Given the description of an element on the screen output the (x, y) to click on. 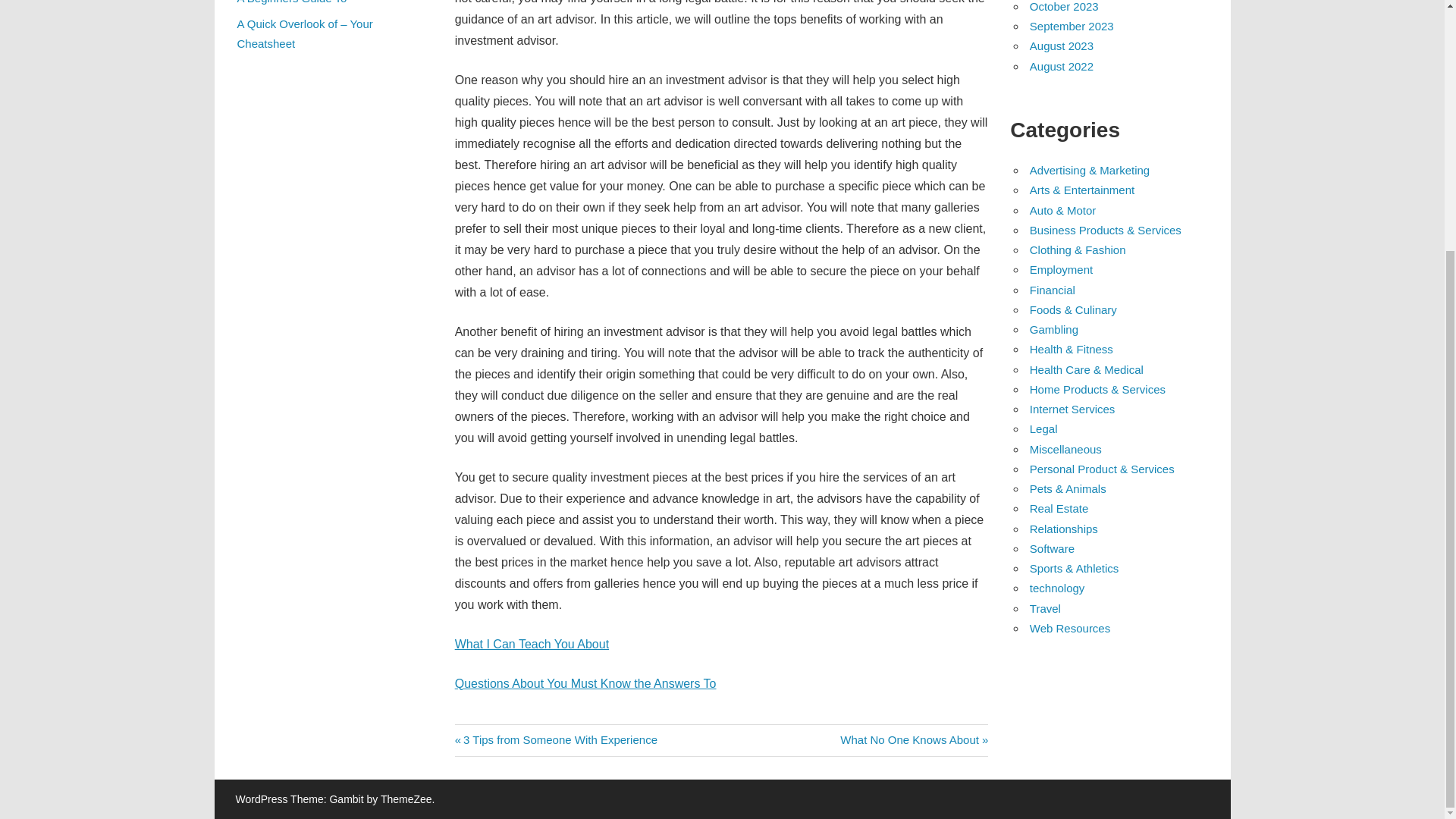
October 2023 (1064, 6)
Financial (556, 739)
Employment (914, 739)
What I Can Teach You About (1052, 289)
August 2022 (1061, 269)
Gambling (531, 644)
August 2023 (1061, 65)
A Beginners Guide To (1053, 328)
Questions About You Must Know the Answers To (1061, 45)
September 2023 (290, 2)
